Given the description of an element on the screen output the (x, y) to click on. 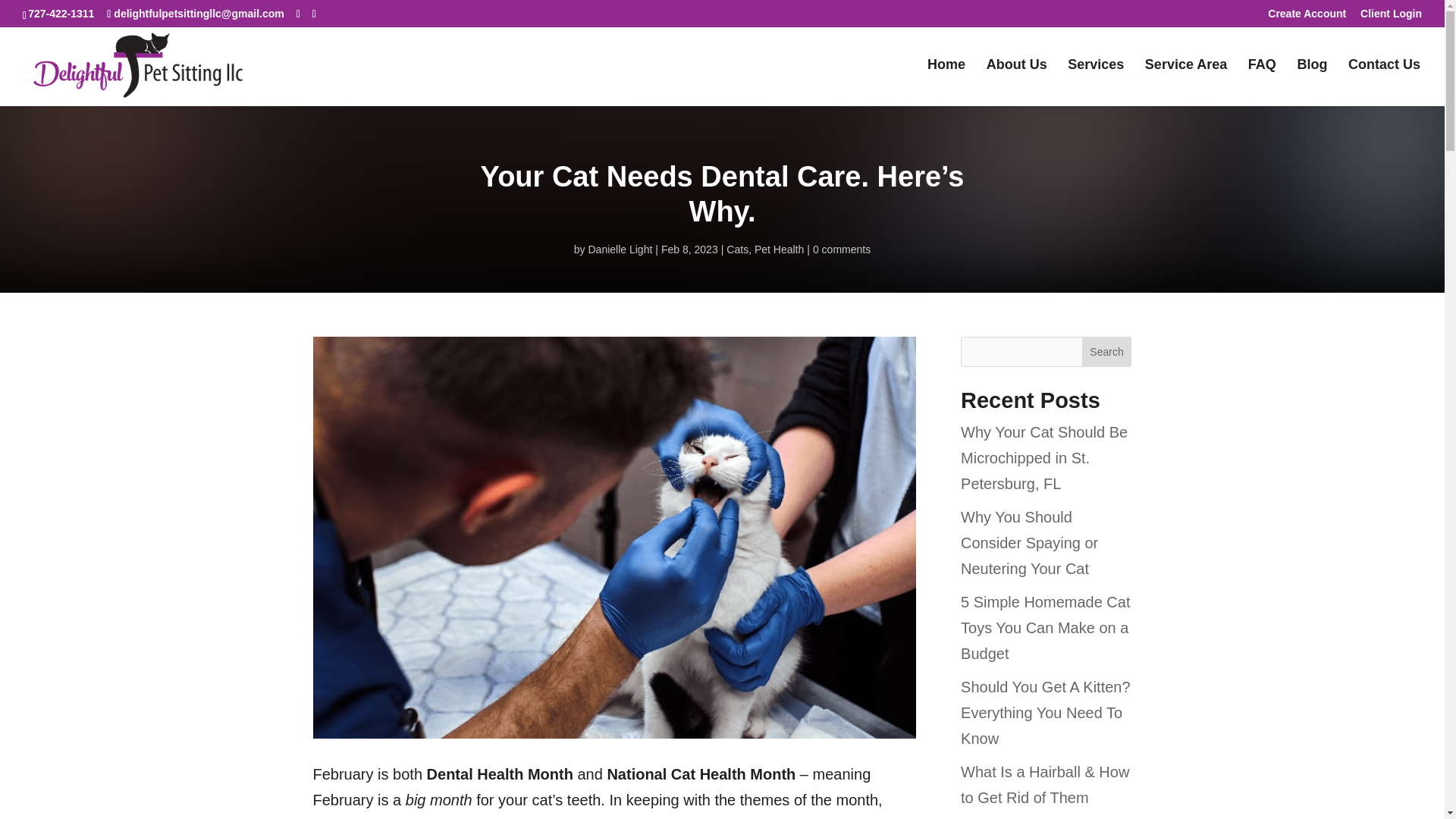
About Us (1016, 82)
5 Simple Homemade Cat Toys You Can Make on a Budget (1044, 627)
Client Login (1390, 16)
Posts by Danielle Light (620, 249)
Should You Get A Kitten? Everything You Need To Know (1045, 712)
Search (1106, 351)
Service Area (1185, 82)
Why Your Cat Should Be Microchipped in St. Petersburg, FL (1043, 458)
0 comments (841, 249)
Why You Should Consider Spaying or Neutering Your Cat (1028, 542)
